Given the description of an element on the screen output the (x, y) to click on. 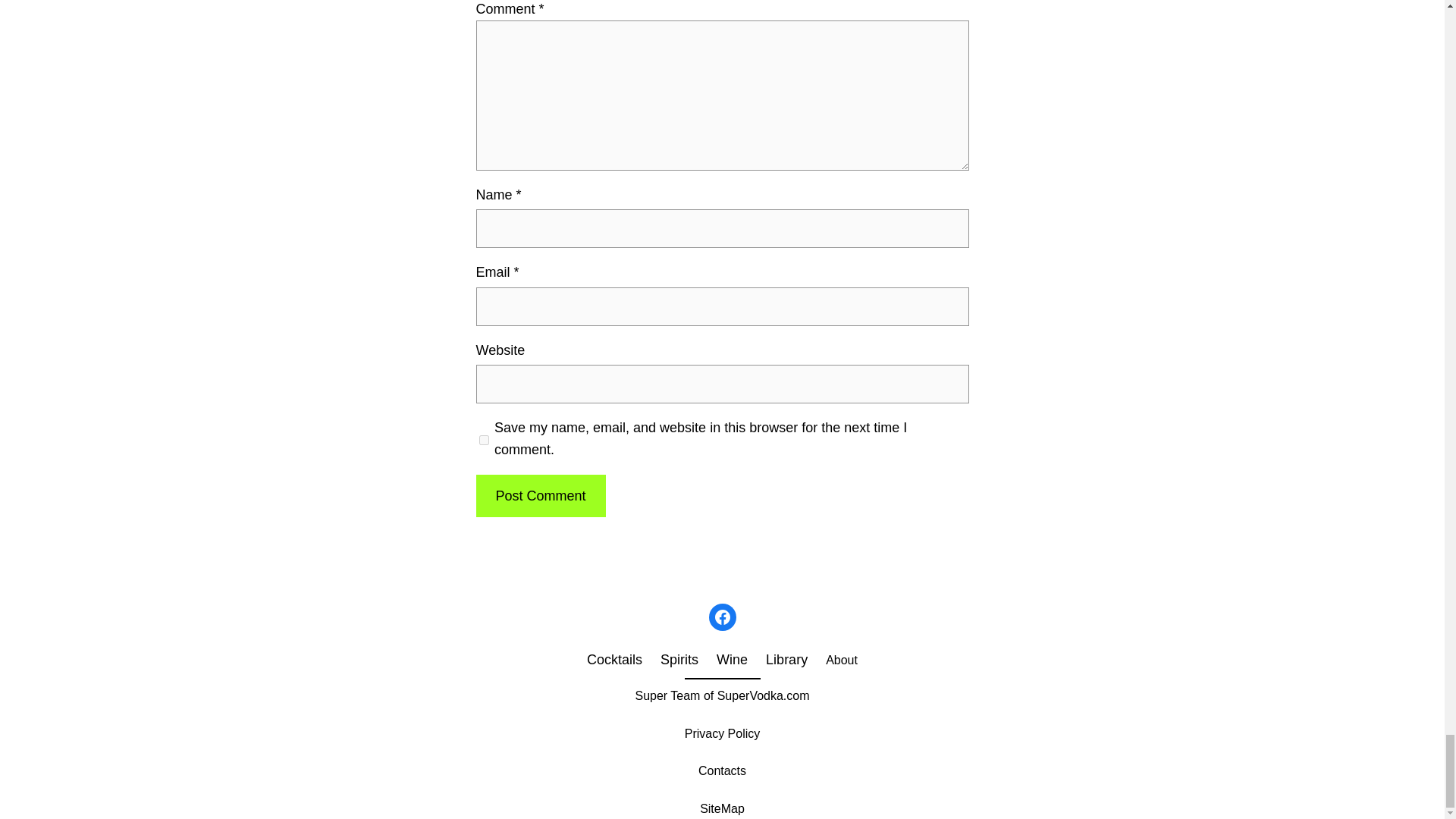
Post Comment (540, 496)
Facebook (721, 616)
Post Comment (540, 496)
Shake Up Your Knowledge with Our Cocktails Section! (614, 659)
Spirits (679, 659)
Wine (732, 659)
Cocktails (614, 659)
Library (786, 659)
